Given the description of an element on the screen output the (x, y) to click on. 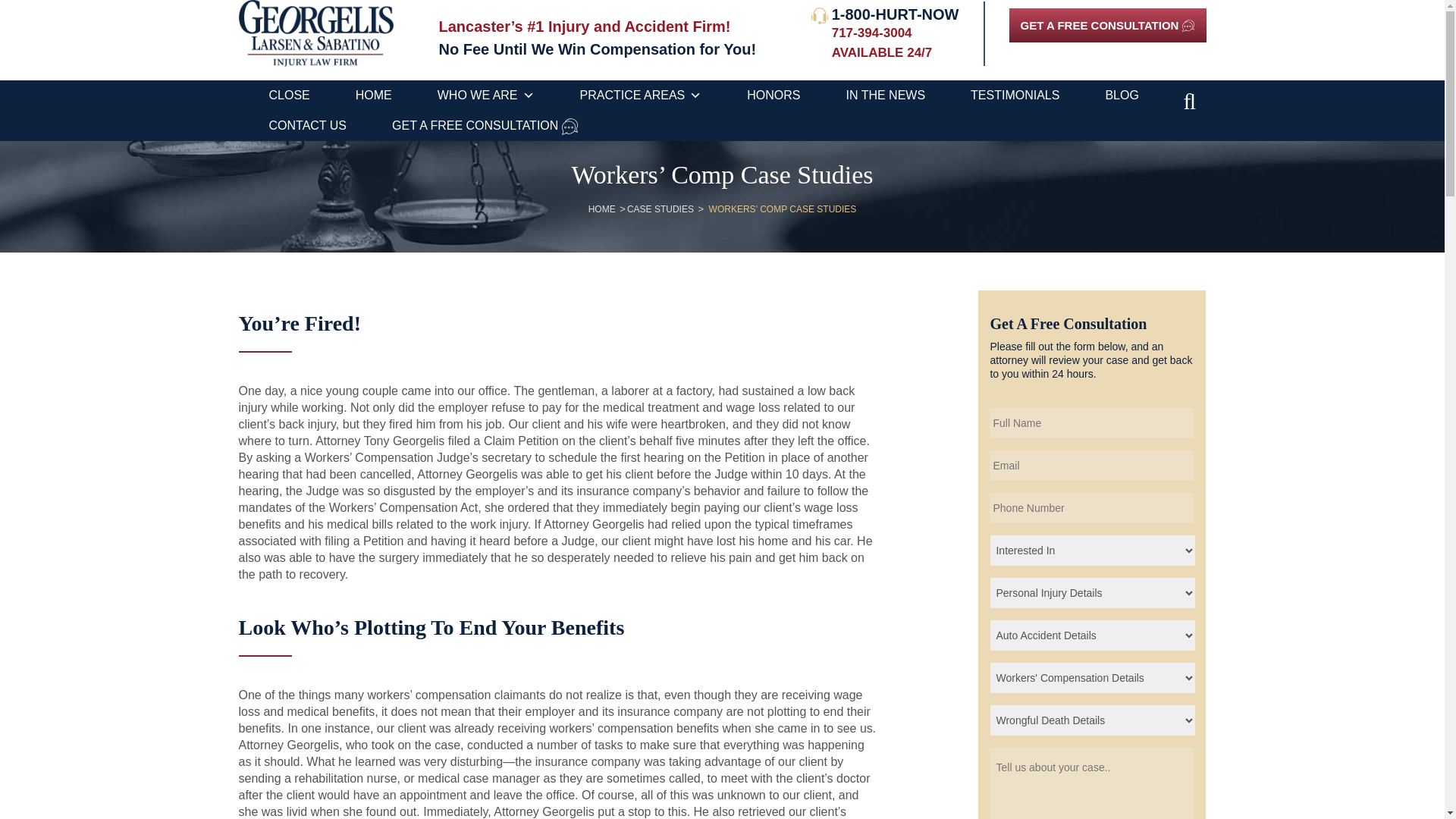
GET A FREE CONSULTATION (1107, 25)
